Given the description of an element on the screen output the (x, y) to click on. 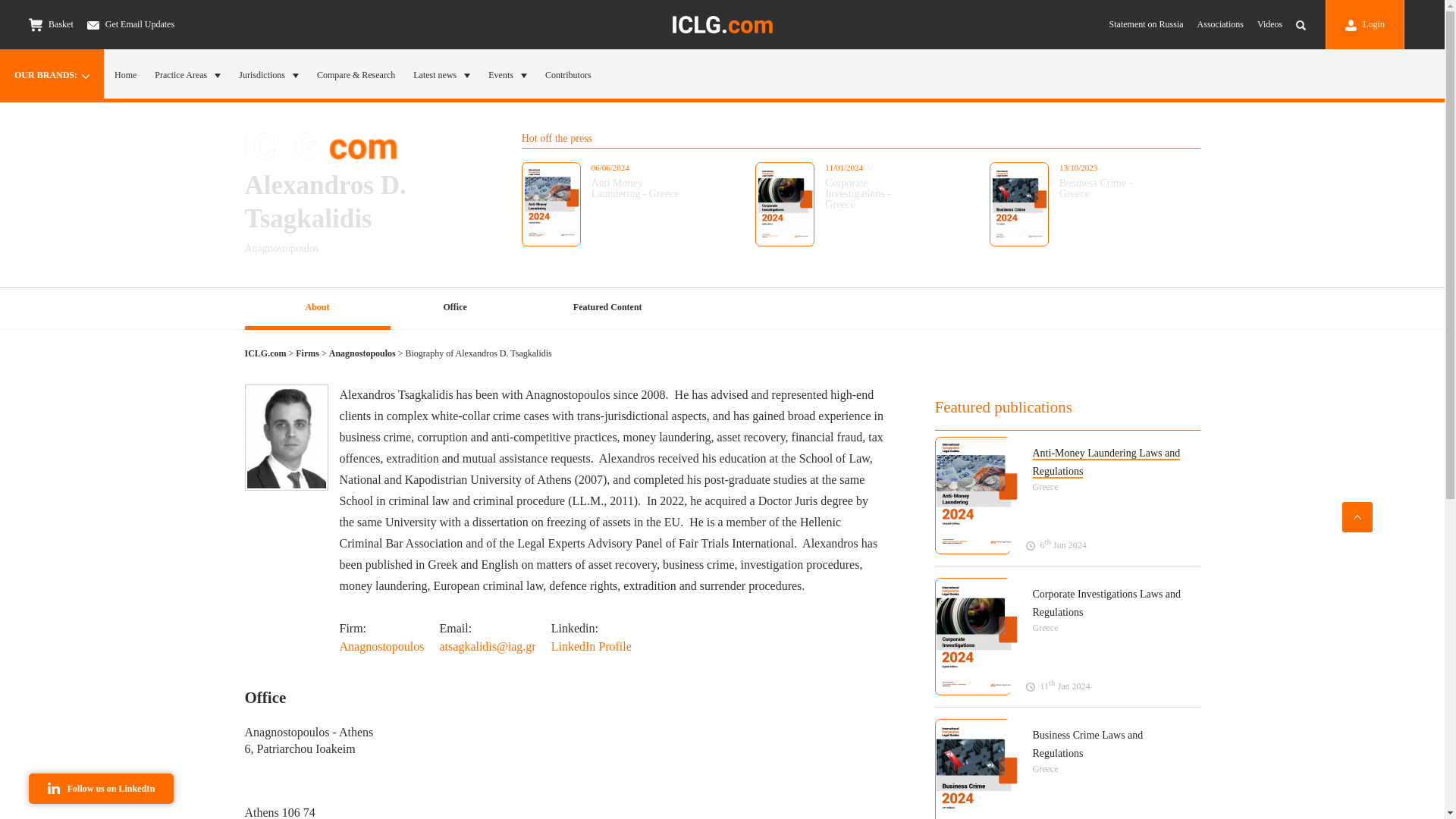
View basket (35, 24)
Basket (51, 24)
OUR BRANDS: (51, 74)
Statement on Russia (1146, 24)
Associations (1219, 24)
Latest news (441, 74)
Jurisdictions (268, 74)
Login (1364, 24)
Get Email Updates (130, 24)
Practice Areas (187, 74)
